Given the description of an element on the screen output the (x, y) to click on. 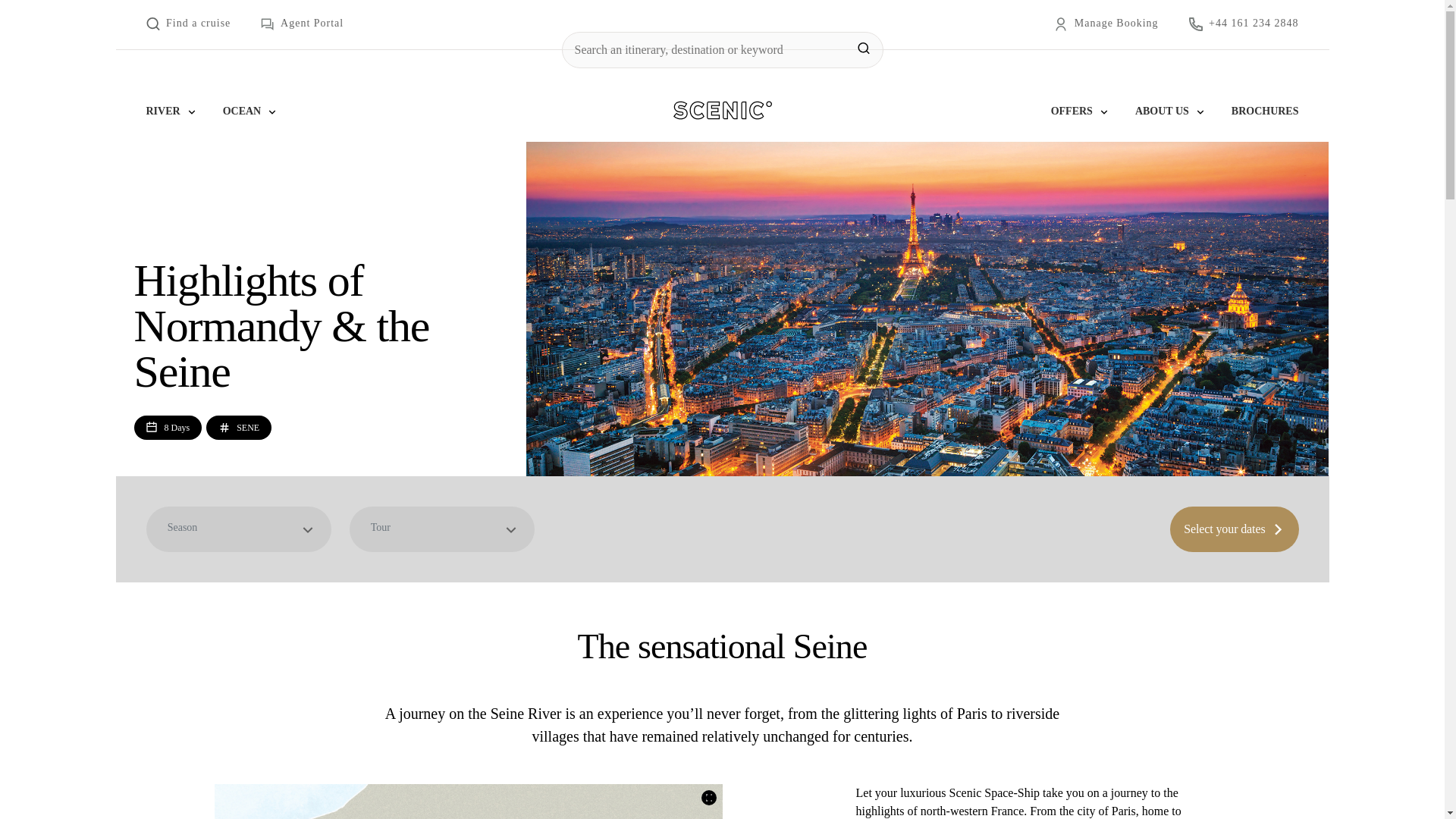
Find a cruise (187, 24)
Manage Booking (1105, 24)
Agent Portal (301, 24)
